Given the description of an element on the screen output the (x, y) to click on. 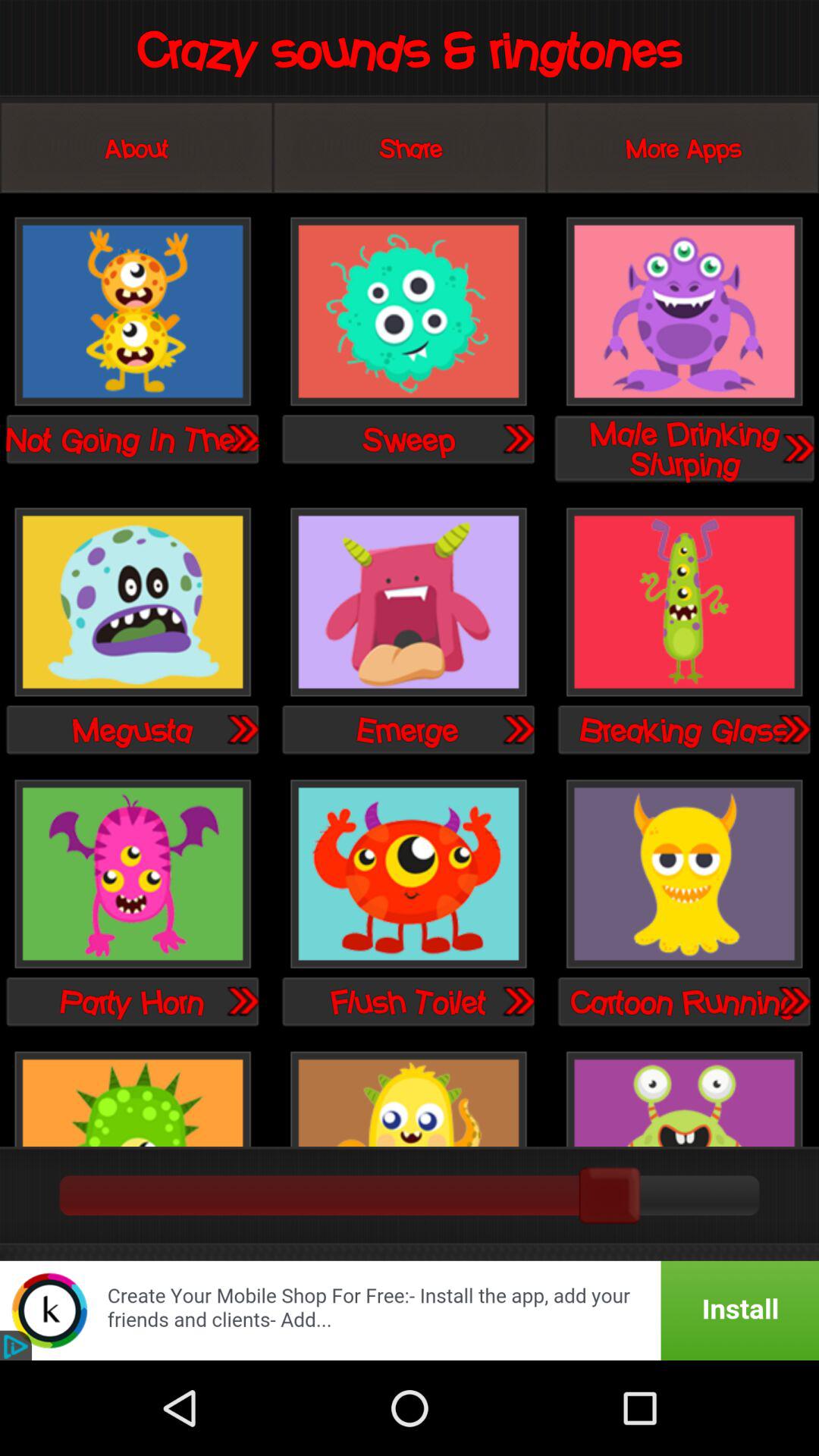
this option is to trigger a different sound (684, 312)
